Given the description of an element on the screen output the (x, y) to click on. 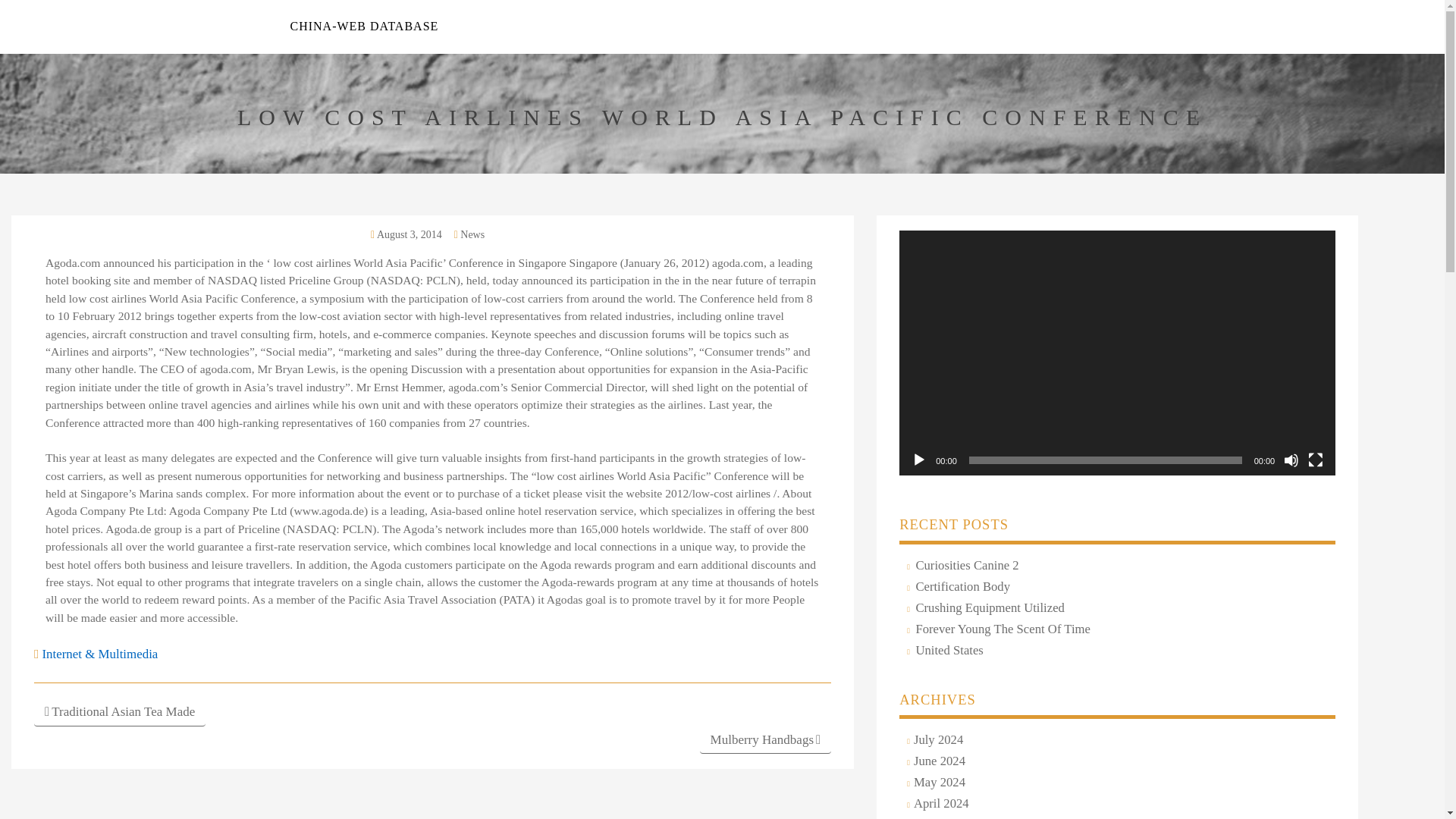
Fullscreen (1315, 459)
Mulberry Handbags (765, 740)
July 2024 (936, 740)
Play (918, 459)
Certification Body (960, 587)
April 2024 (939, 804)
Curiosities Canine 2 (964, 565)
Traditional Asian Tea Made (119, 712)
Crushing Equipment Utilized (987, 608)
United States (946, 651)
Forever Young The Scent Of Time (1000, 629)
June 2024 (937, 761)
CHINA-WEB DATABASE (364, 26)
Mute (1291, 459)
March 2024 (942, 818)
